Given the description of an element on the screen output the (x, y) to click on. 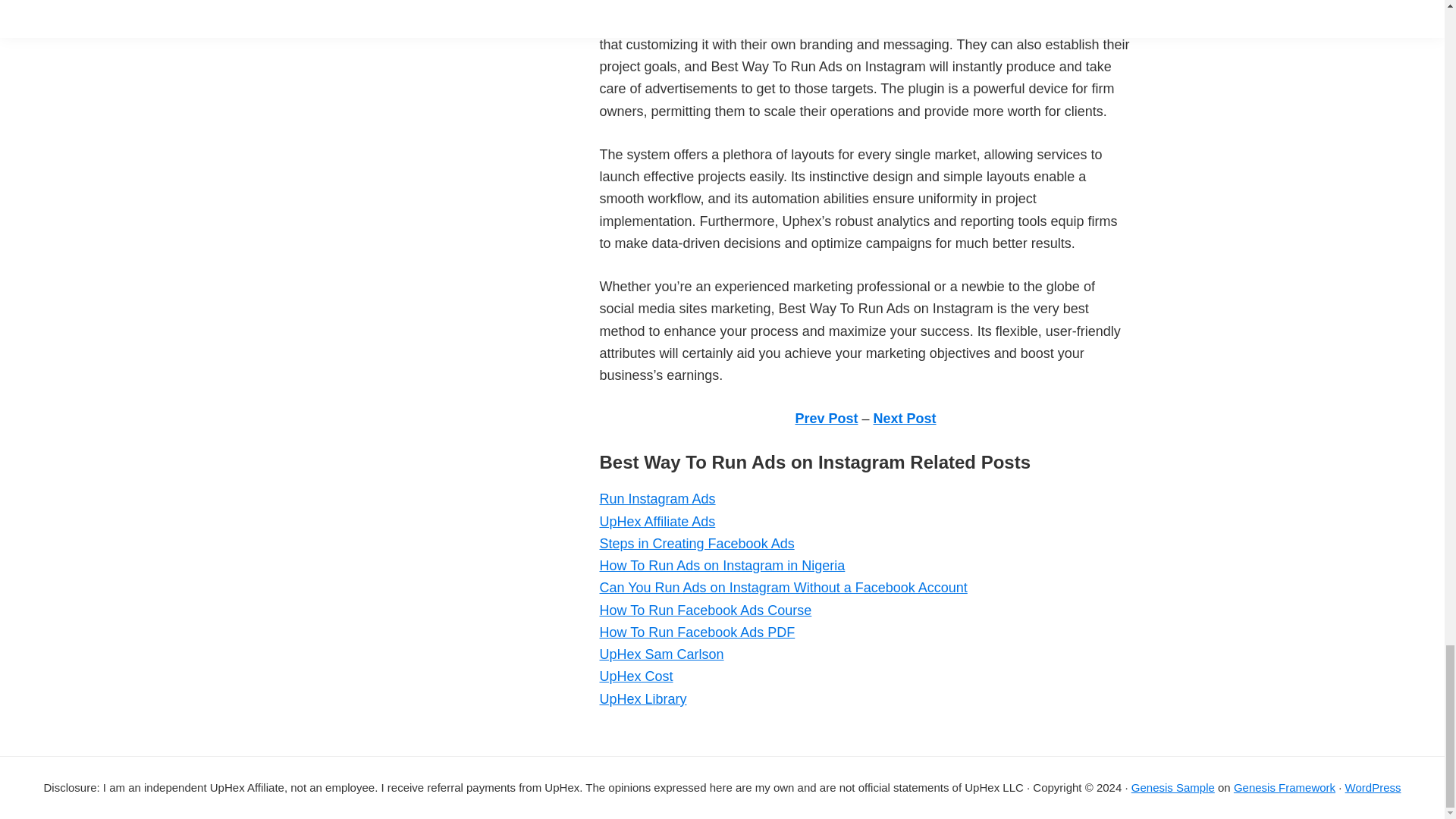
Can You Run Ads on Instagram Without a Facebook Account (782, 587)
How To Run Ads on Instagram in Nigeria (721, 565)
UpHex Sam Carlson (660, 654)
Run Instagram Ads (656, 498)
WordPress (1372, 787)
How To Run Facebook Ads PDF (696, 631)
Genesis Framework (1284, 787)
Next Post (904, 418)
How To Run Ads on Instagram in Nigeria (721, 565)
How To Run Facebook Ads Course (704, 610)
